Given the description of an element on the screen output the (x, y) to click on. 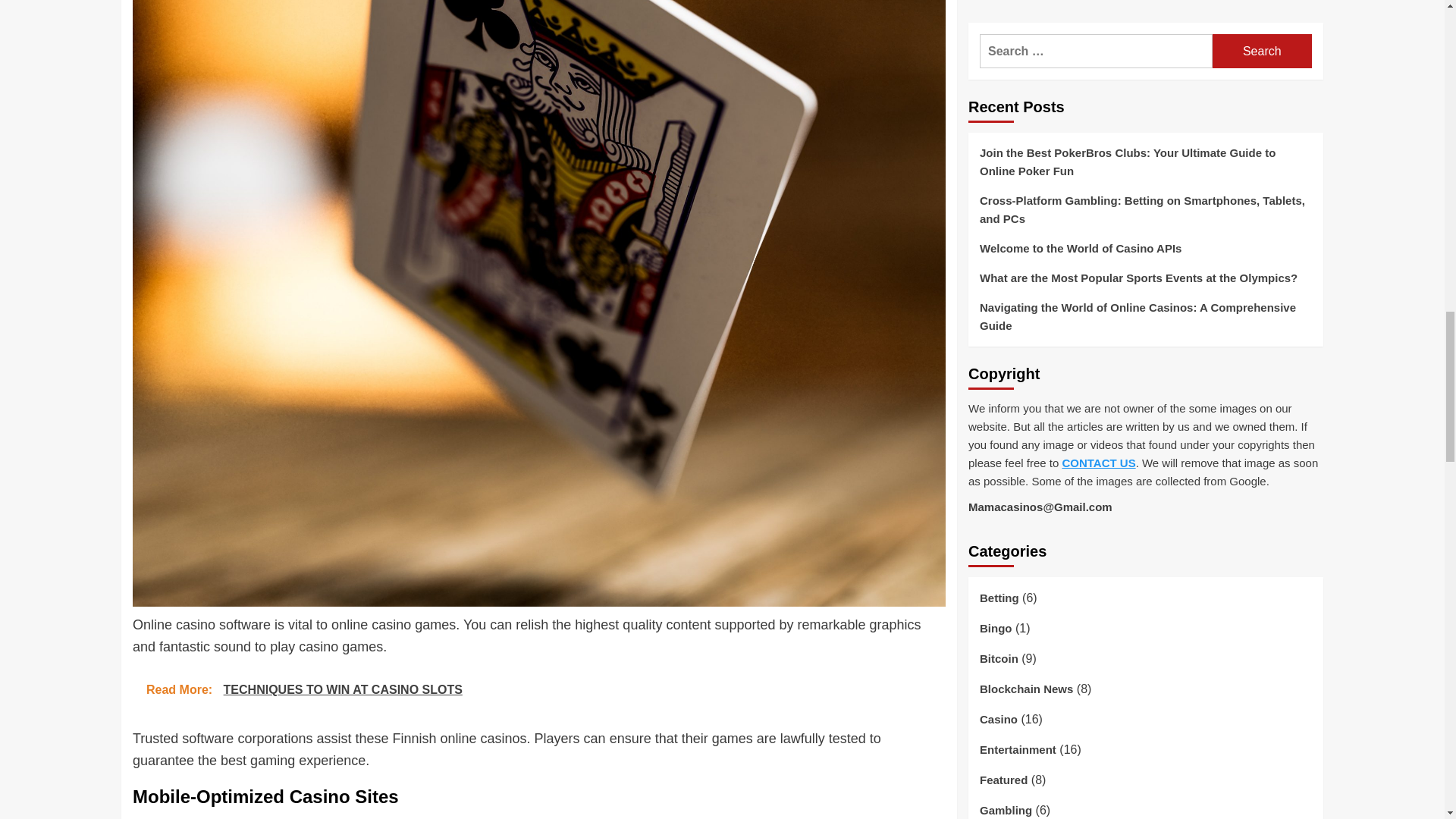
Read More:   TECHNIQUES TO WIN AT CASINO SLOTS (538, 689)
